Given the description of an element on the screen output the (x, y) to click on. 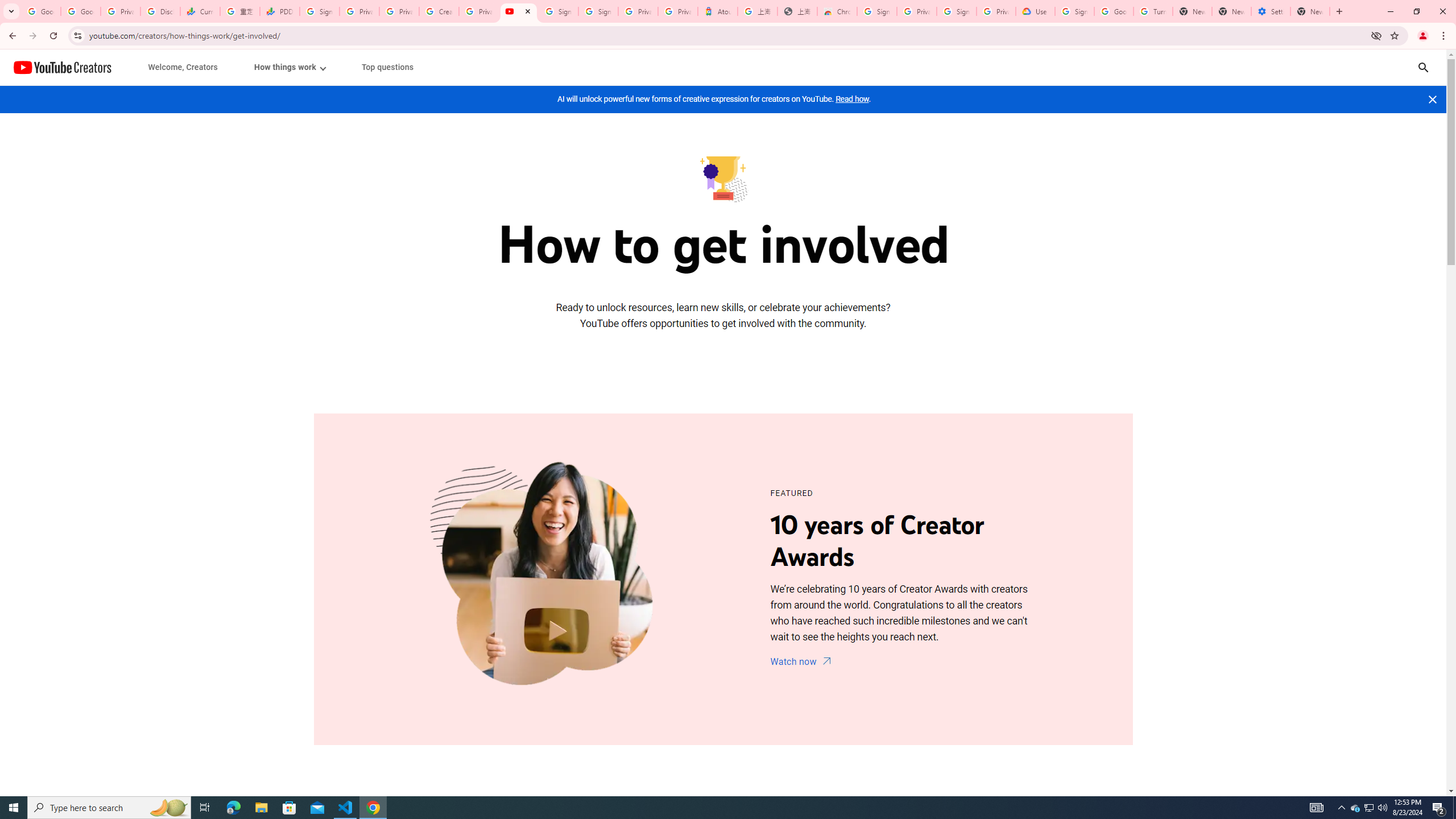
Turn cookies on or off - Computer - Google Account Help (1152, 11)
Chrome Web Store - Color themes by Chrome (836, 11)
1 (289, 67)
Google Workspace Admin Community (40, 11)
JUMP TO CONTENT (118, 67)
Create your Google Account (438, 11)
Atour Hotel - Google hotels (717, 11)
